Given the description of an element on the screen output the (x, y) to click on. 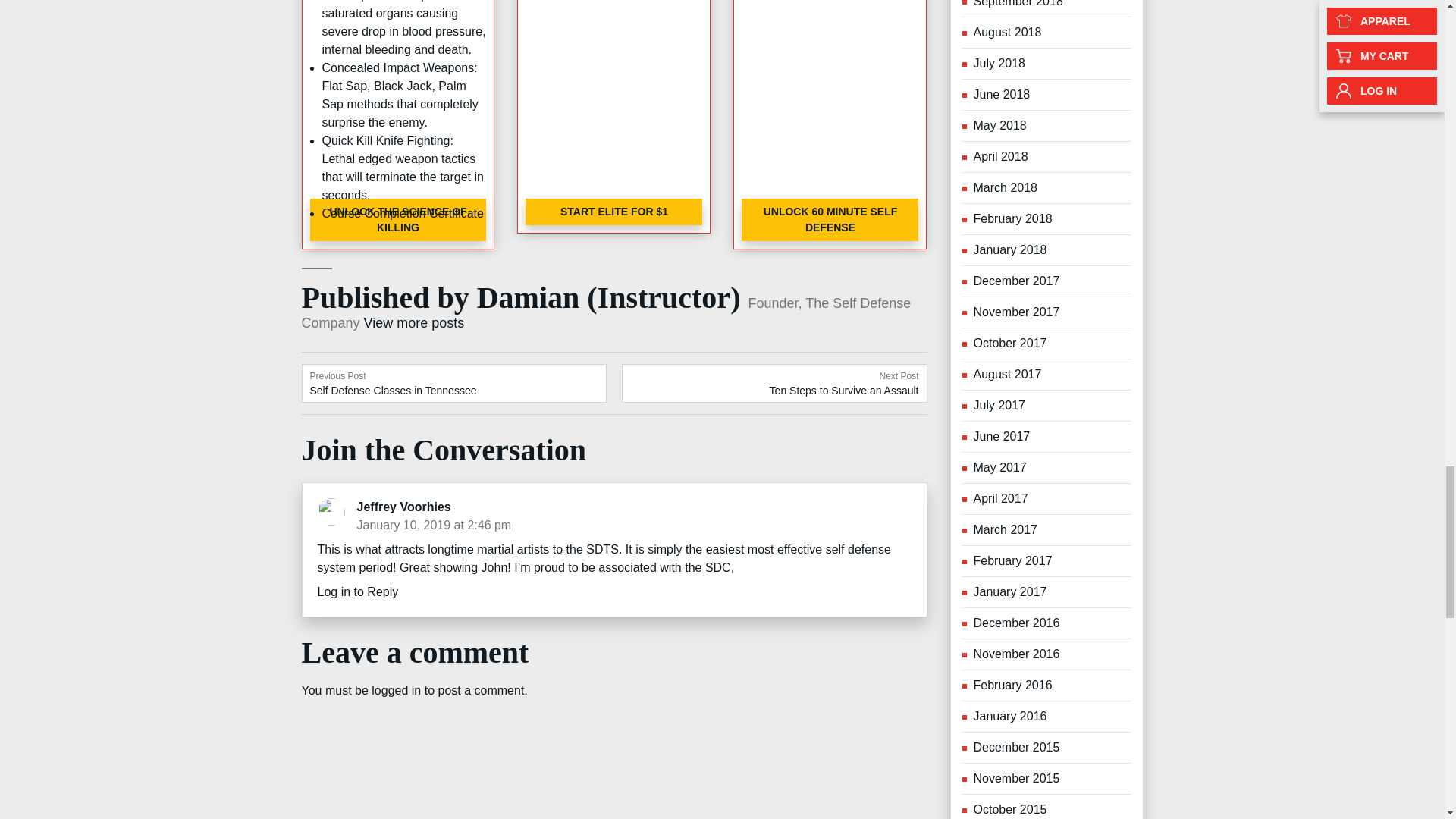
UNLOCK THE SCIENCE OF KILLING (614, 506)
January 10, 2019 at 2:46 pm (397, 219)
January 10, 2019 at 2:46 pm (774, 382)
UNLOCK 60 MINUTE SELF DEFENSE (433, 524)
View more posts (433, 524)
